Given the description of an element on the screen output the (x, y) to click on. 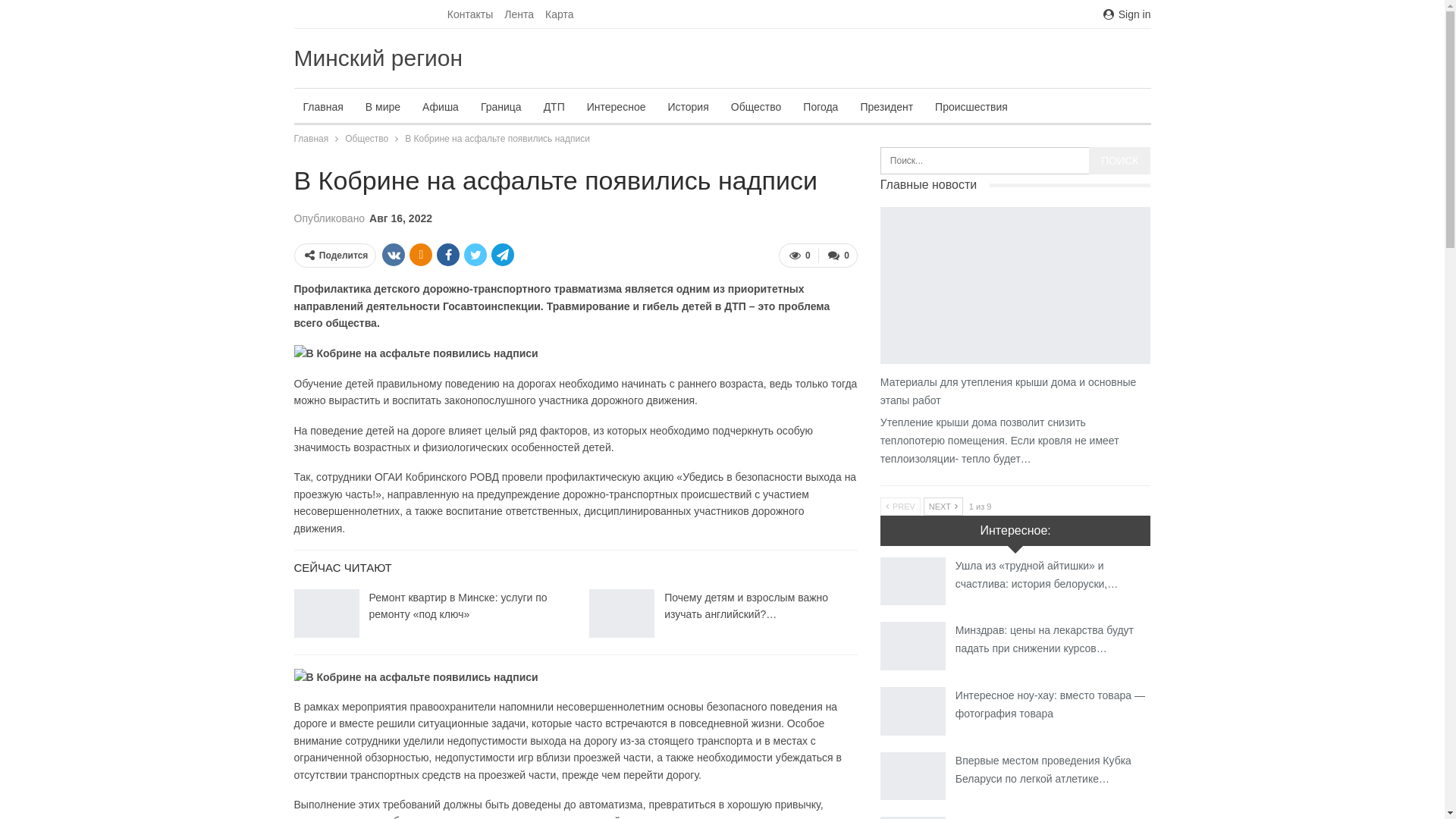
Sign in Element type: text (1127, 14)
NEXT Element type: text (943, 506)
0 Element type: text (837, 255)
PREV Element type: text (900, 506)
